Given the description of an element on the screen output the (x, y) to click on. 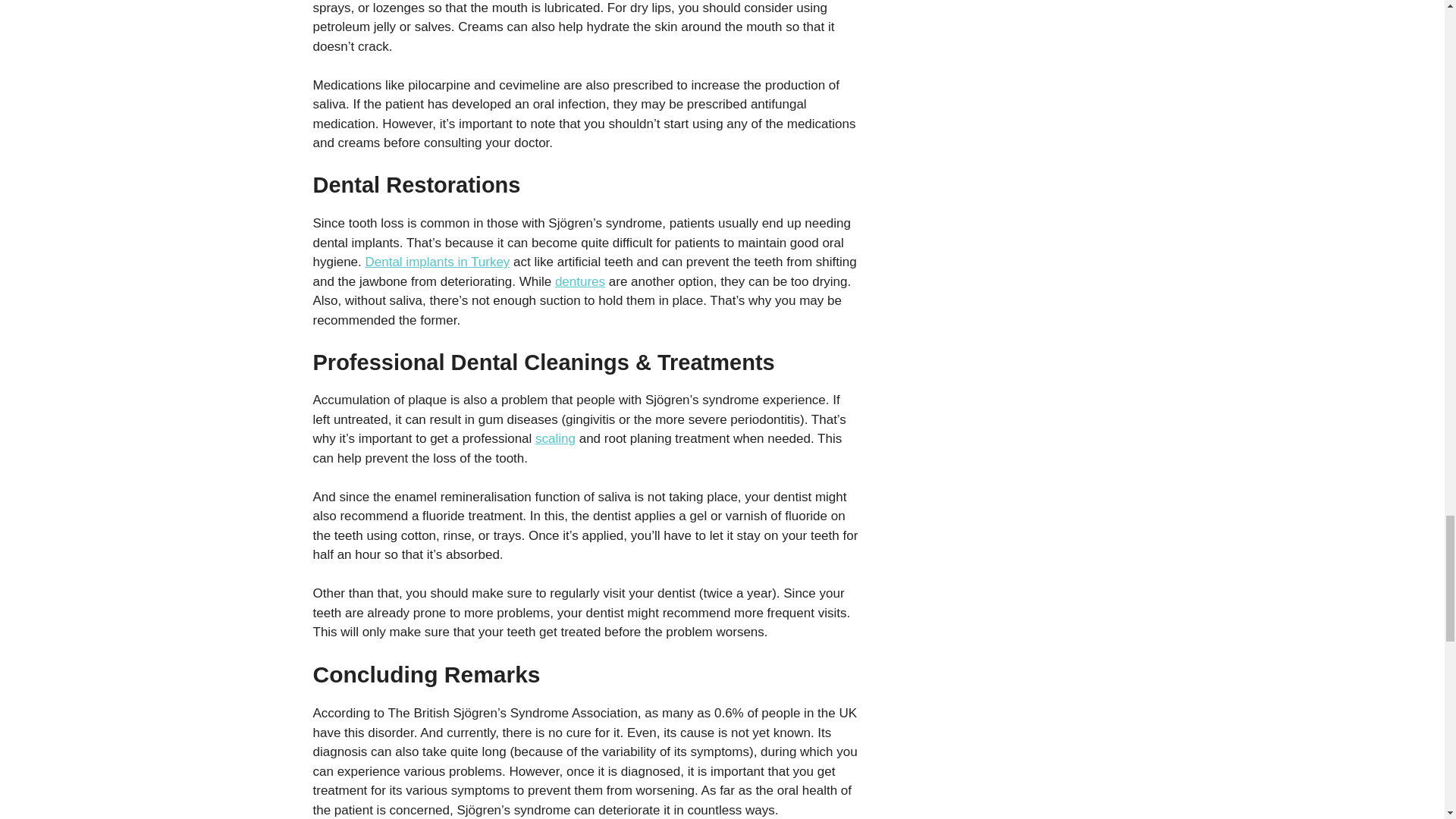
Dental implants in Turkey (438, 261)
